Given the description of an element on the screen output the (x, y) to click on. 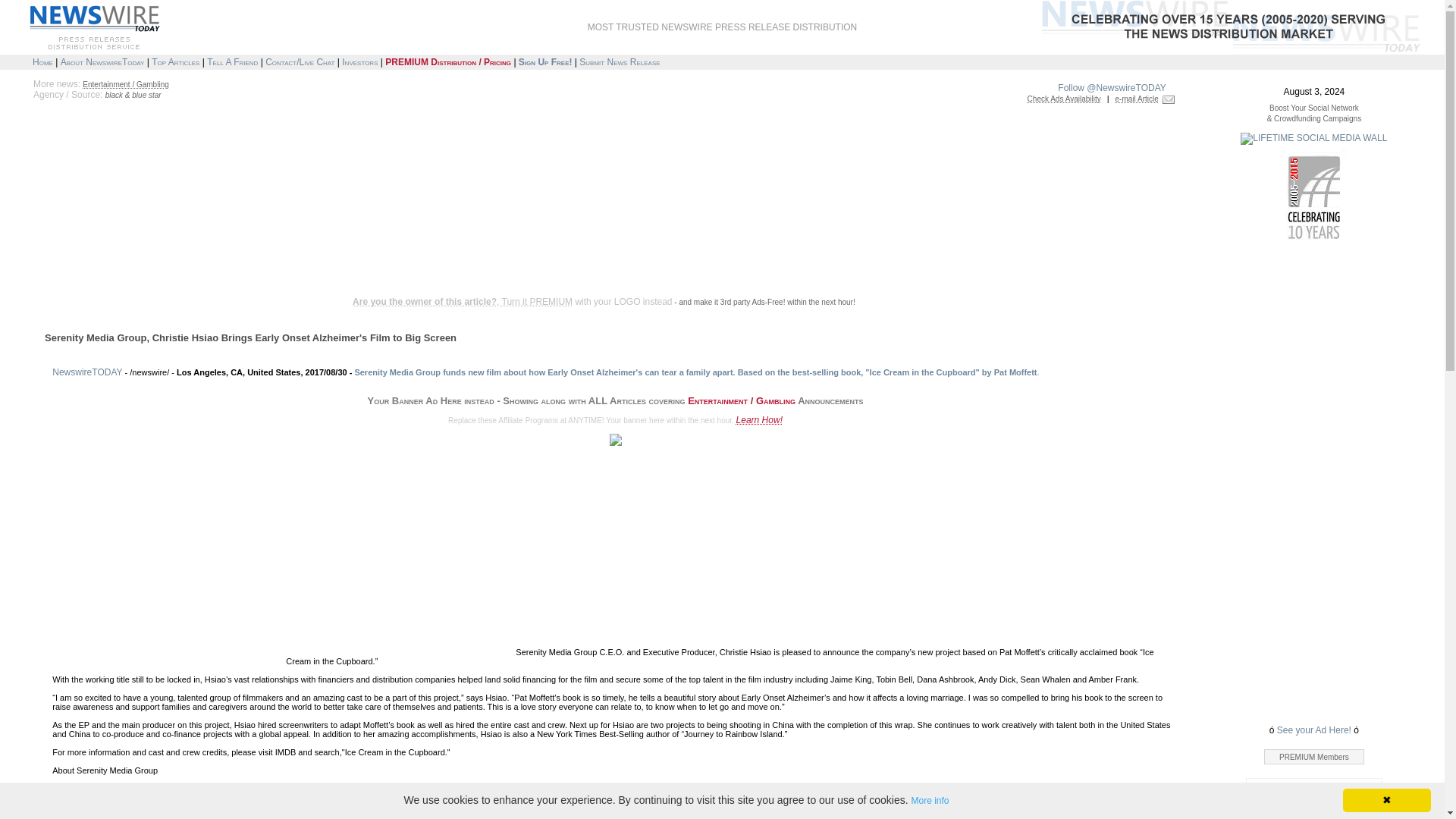
Tell a friend about NewswireToday (231, 61)
Top Articles (175, 61)
Sign Up FREE! (545, 61)
About NewswireToday (102, 61)
About NewswireToday (102, 61)
Contact NewswireToday (299, 61)
Investors (359, 61)
Sign Up Free! (545, 61)
e-mail Article (1136, 98)
Submit News Release (619, 61)
Check Ads Availability (1063, 98)
